Given the description of an element on the screen output the (x, y) to click on. 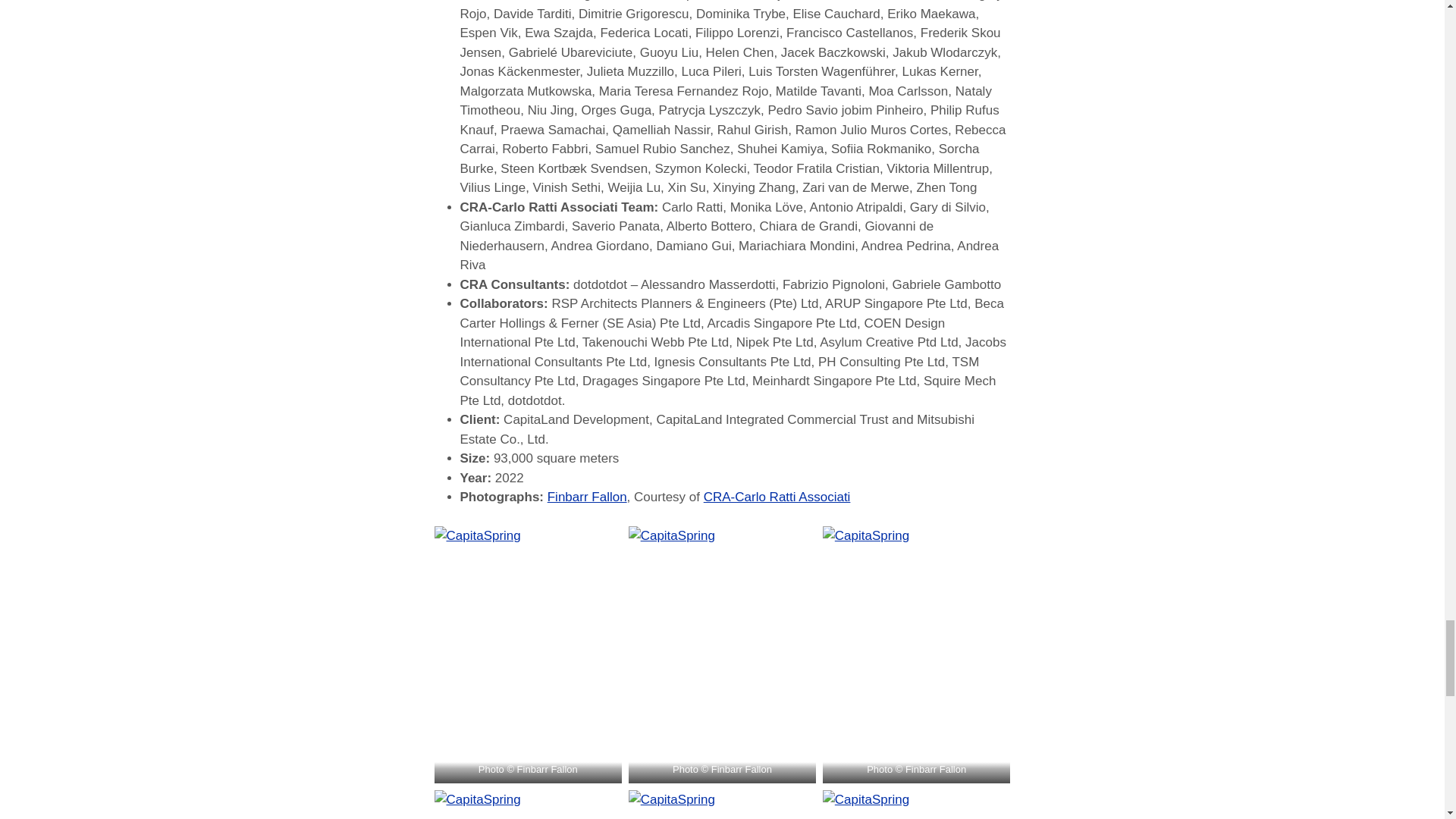
Finbarr Fallon (587, 496)
CRA-Carlo Ratti Associati (776, 496)
